Given the description of an element on the screen output the (x, y) to click on. 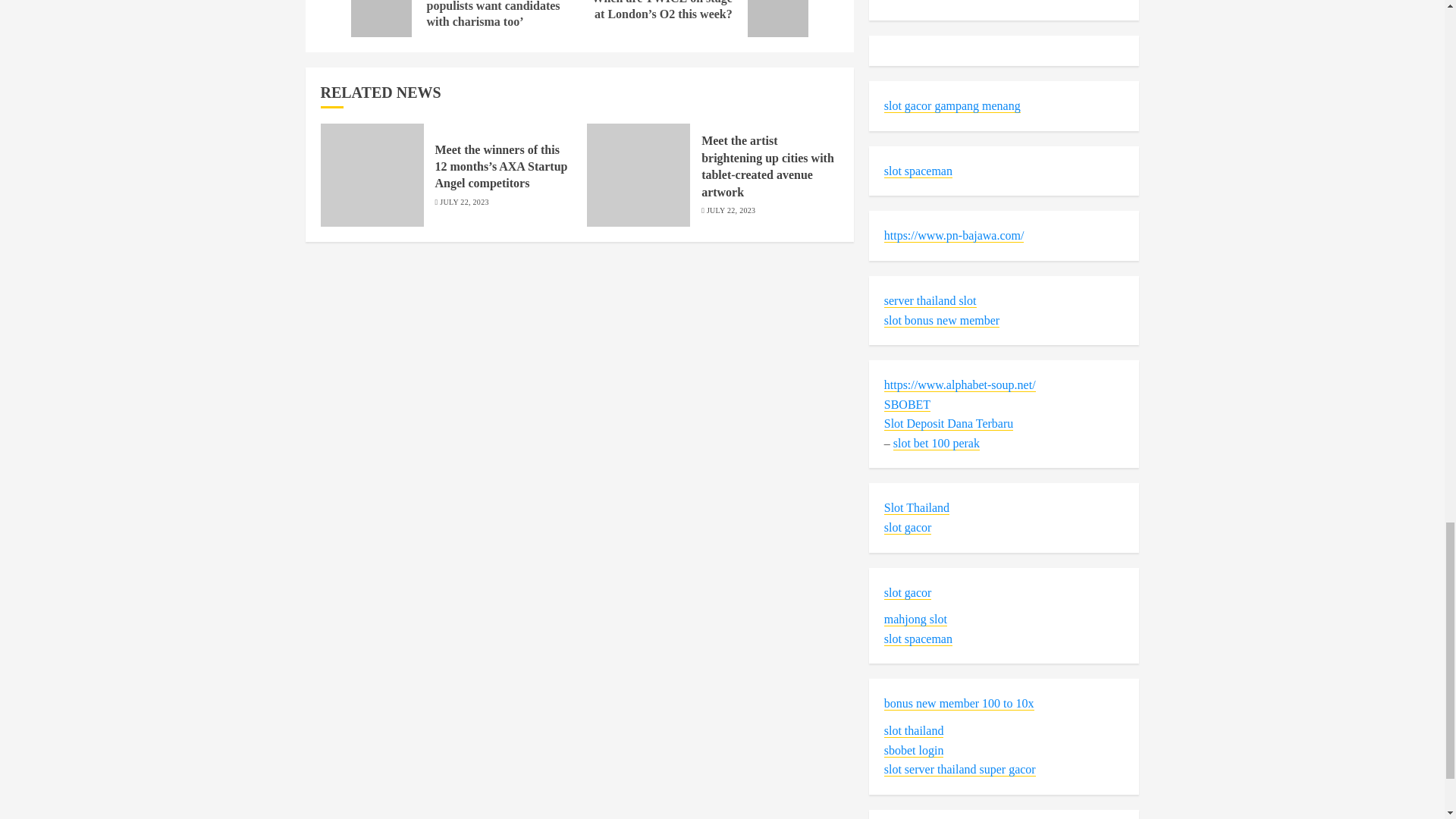
JULY 22, 2023 (463, 202)
JULY 22, 2023 (730, 210)
